Given the description of an element on the screen output the (x, y) to click on. 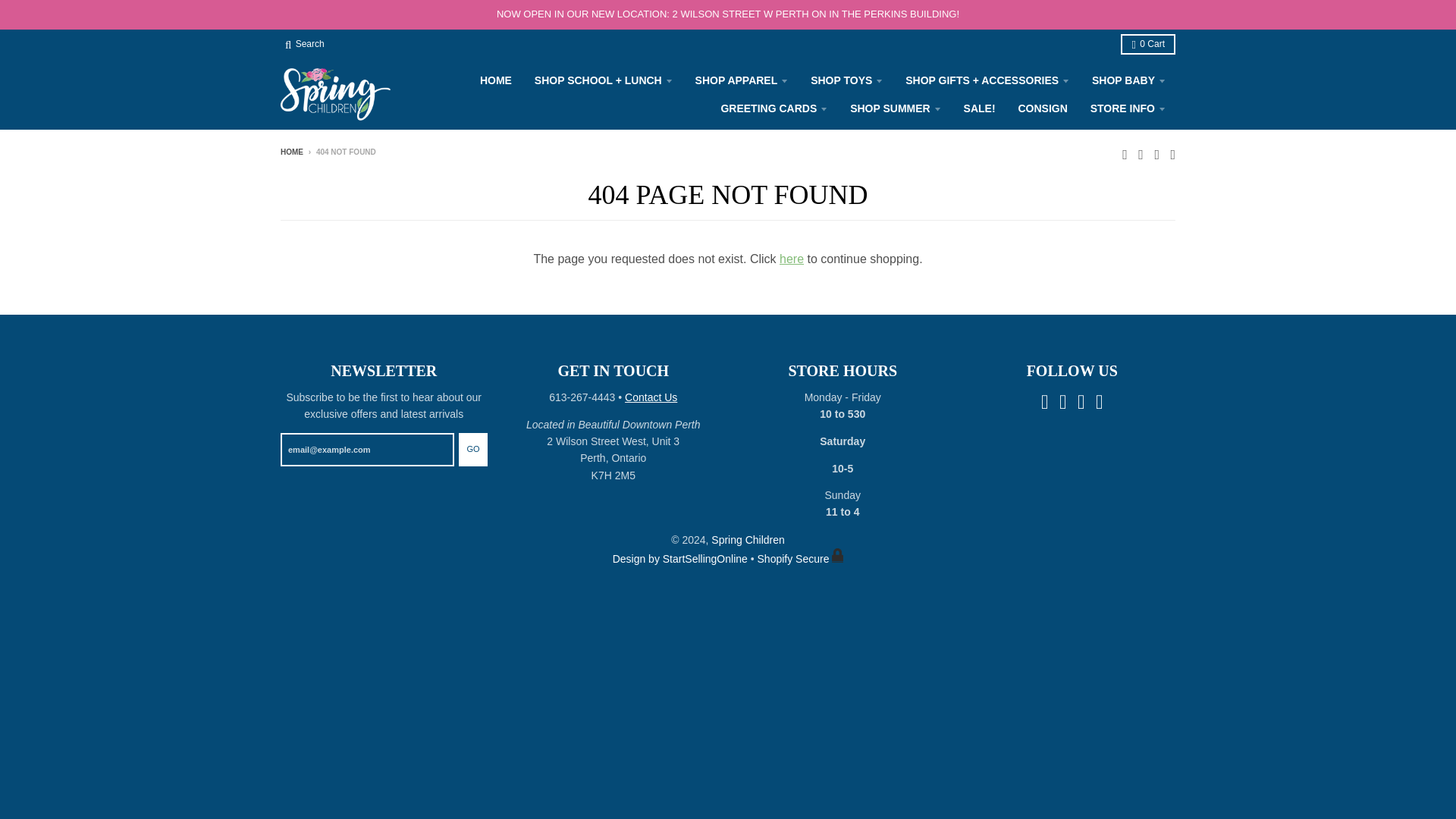
SHOP APPAREL (741, 80)
Back to the frontpage (291, 152)
HOME (495, 80)
Search (305, 44)
0 Cart (1147, 44)
Shopify setup (681, 558)
Shopify Cart (800, 558)
